Given the description of an element on the screen output the (x, y) to click on. 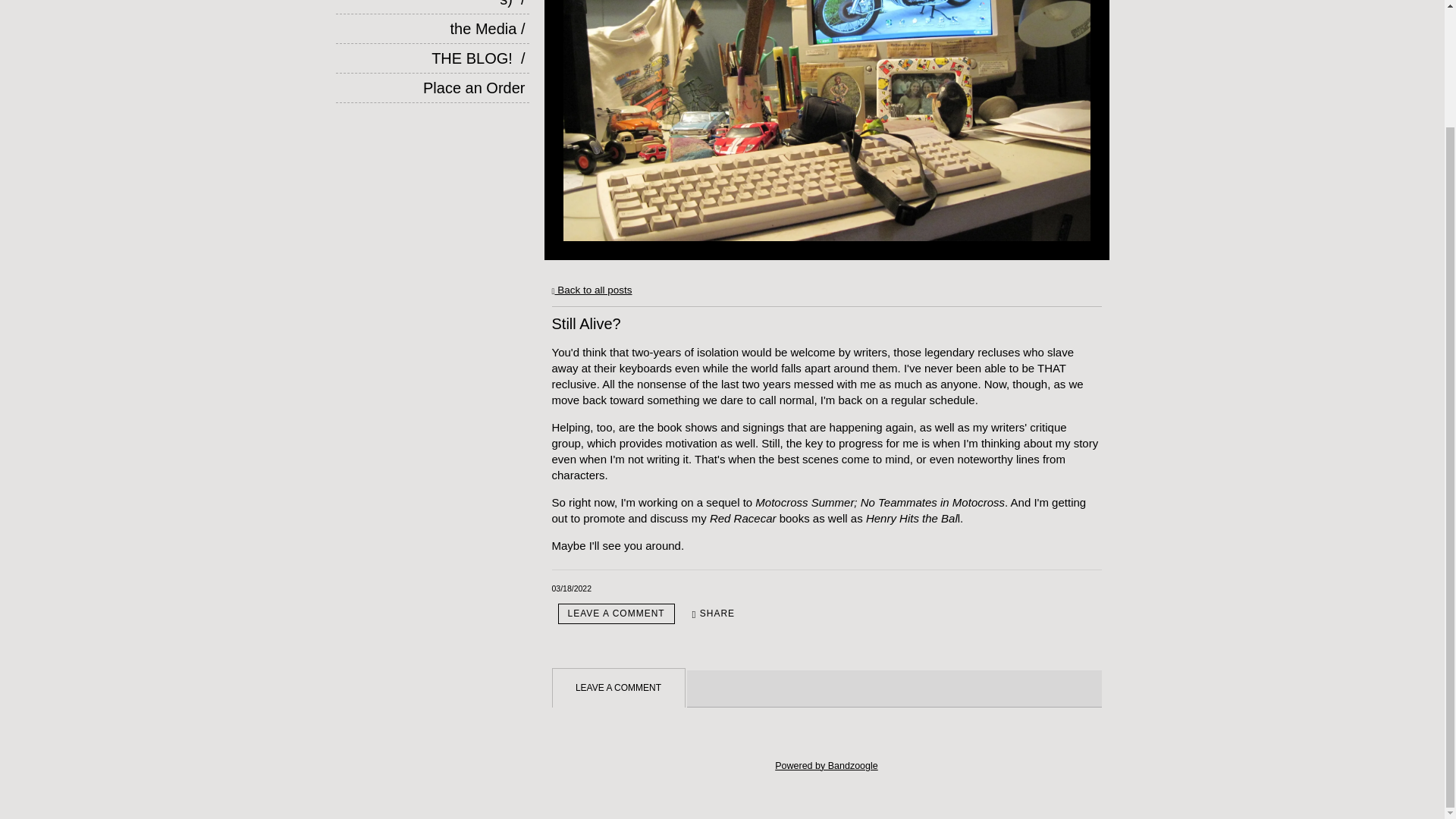
Powered by Bandzoogle (825, 765)
March 18, 2022 09:06 (571, 587)
SHARE (713, 613)
Leave a comment (616, 613)
Back to all posts (591, 289)
LEAVE A COMMENT (616, 613)
Place an Order (432, 87)
Share Still Alive? (713, 613)
